Given the description of an element on the screen output the (x, y) to click on. 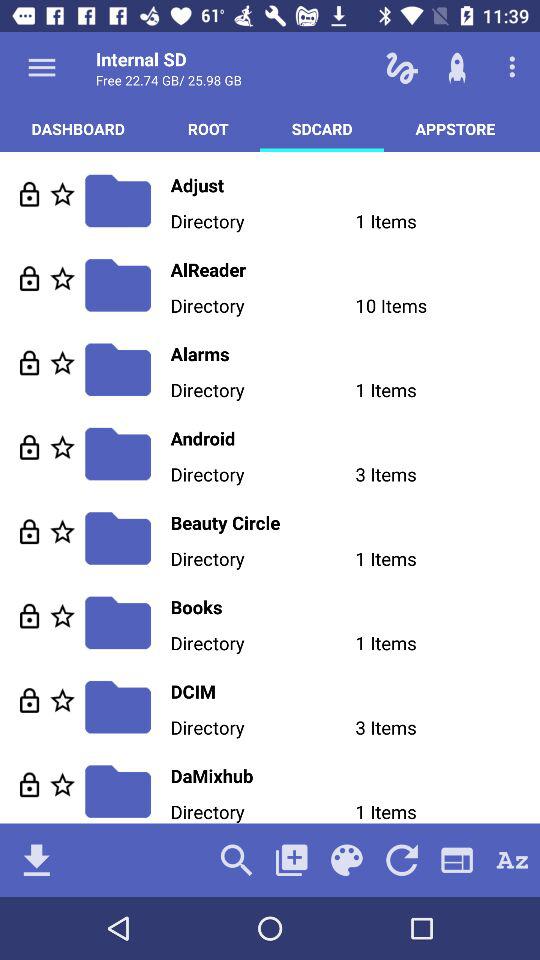
go to favourite (62, 193)
